Given the description of an element on the screen output the (x, y) to click on. 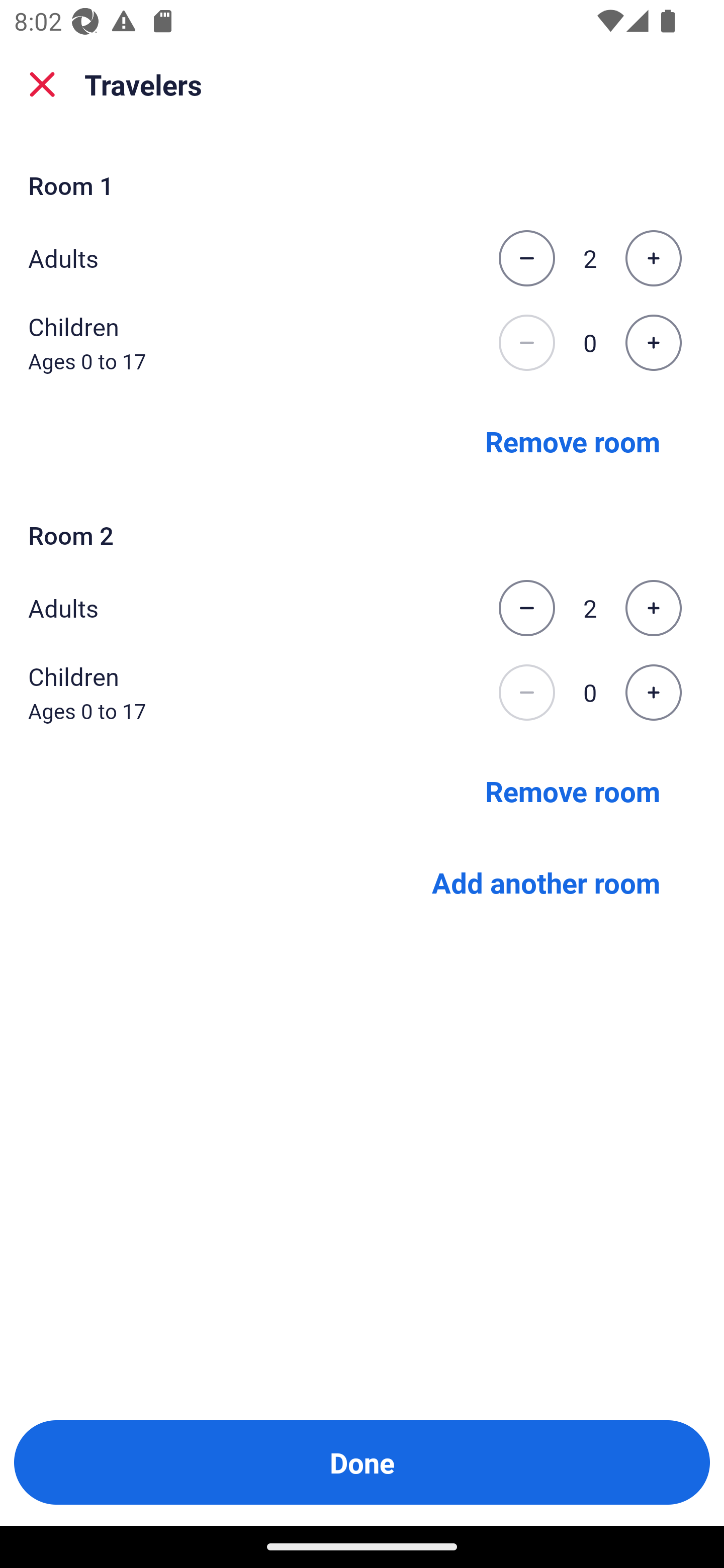
close (42, 84)
Decrease the number of adults (526, 258)
Increase the number of adults (653, 258)
Decrease the number of children (526, 343)
Increase the number of children (653, 343)
Remove room (572, 440)
Decrease the number of adults (526, 608)
Increase the number of adults (653, 608)
Decrease the number of children (526, 692)
Increase the number of children (653, 692)
Remove room (572, 790)
Add another room (545, 882)
Done (361, 1462)
